Given the description of an element on the screen output the (x, y) to click on. 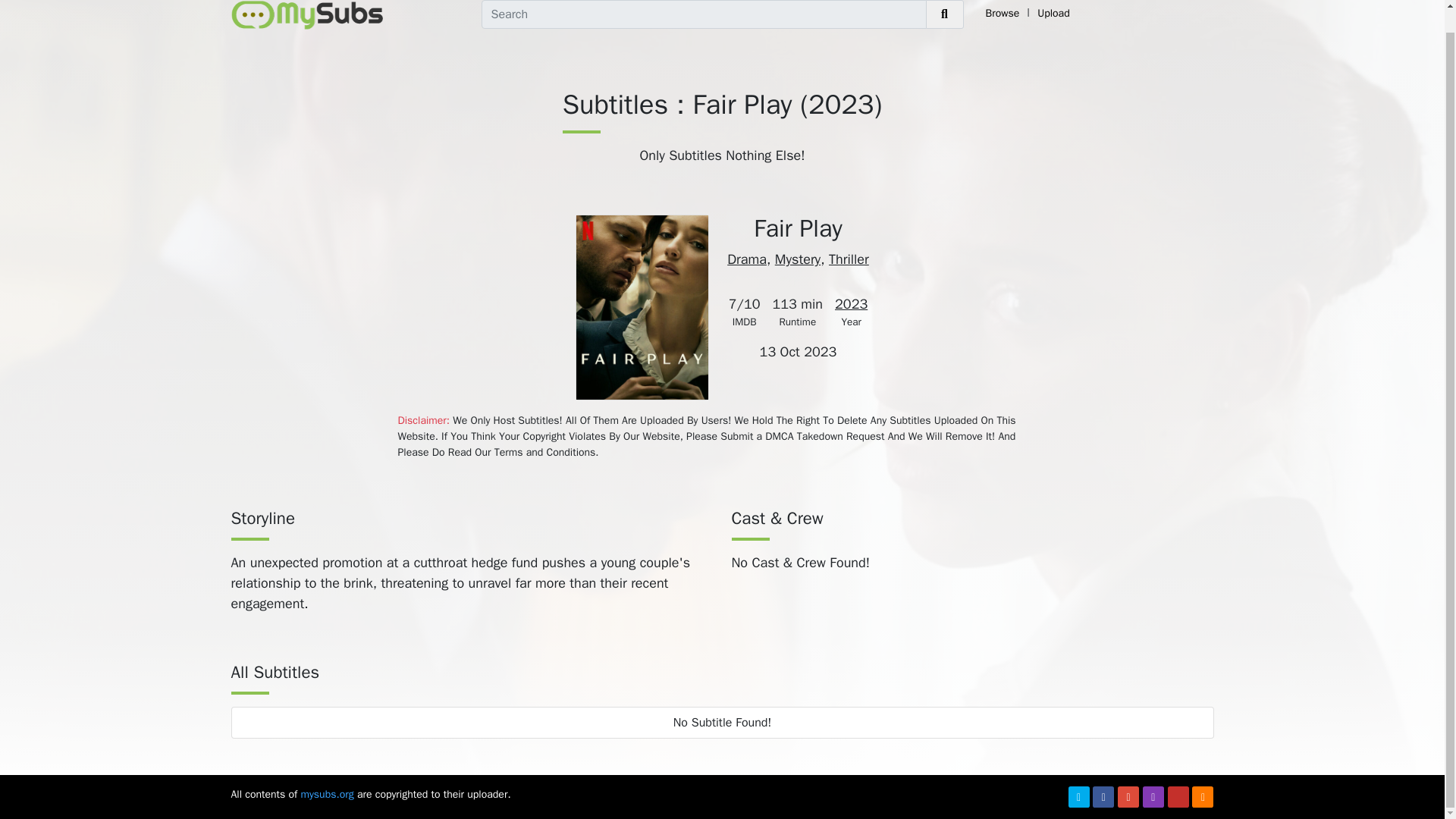
Thriller (848, 258)
Drama (746, 258)
2023 (850, 303)
Mystery (797, 258)
Upload (1053, 13)
Browse (1002, 13)
mysubs.org (326, 793)
